Given the description of an element on the screen output the (x, y) to click on. 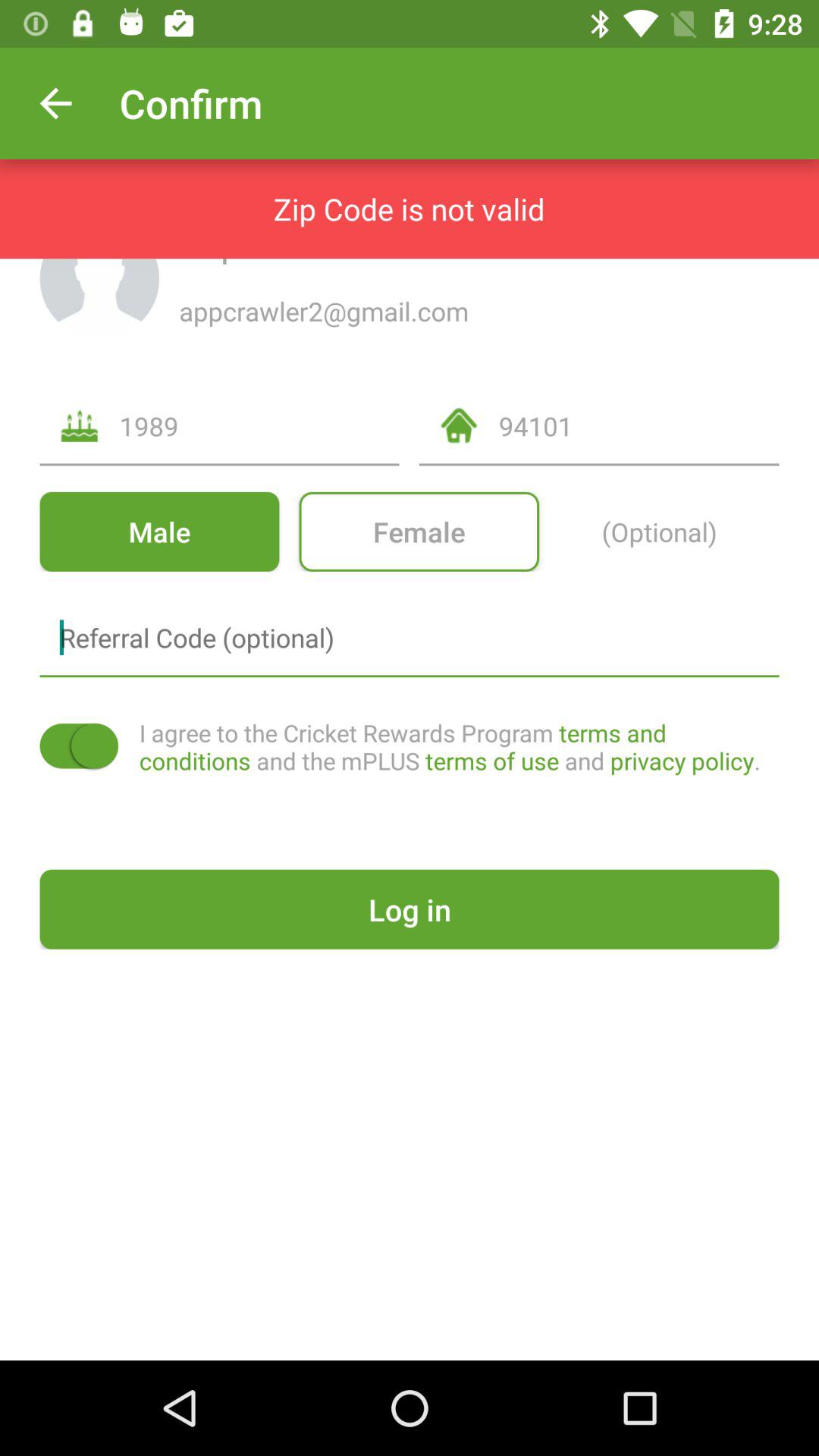
turn on item to the left of confirm icon (55, 103)
